Given the description of an element on the screen output the (x, y) to click on. 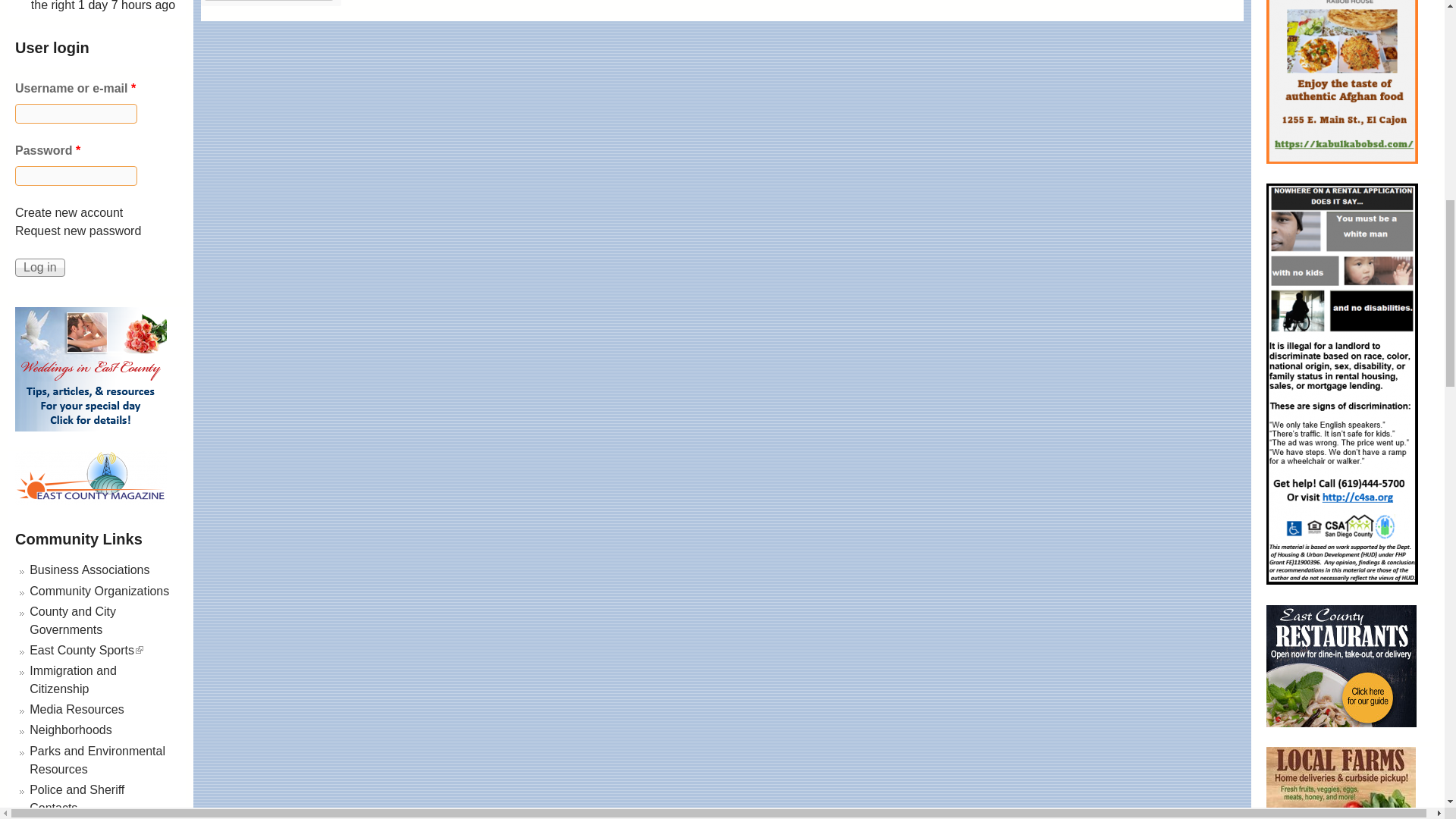
Log in (39, 267)
